Given the description of an element on the screen output the (x, y) to click on. 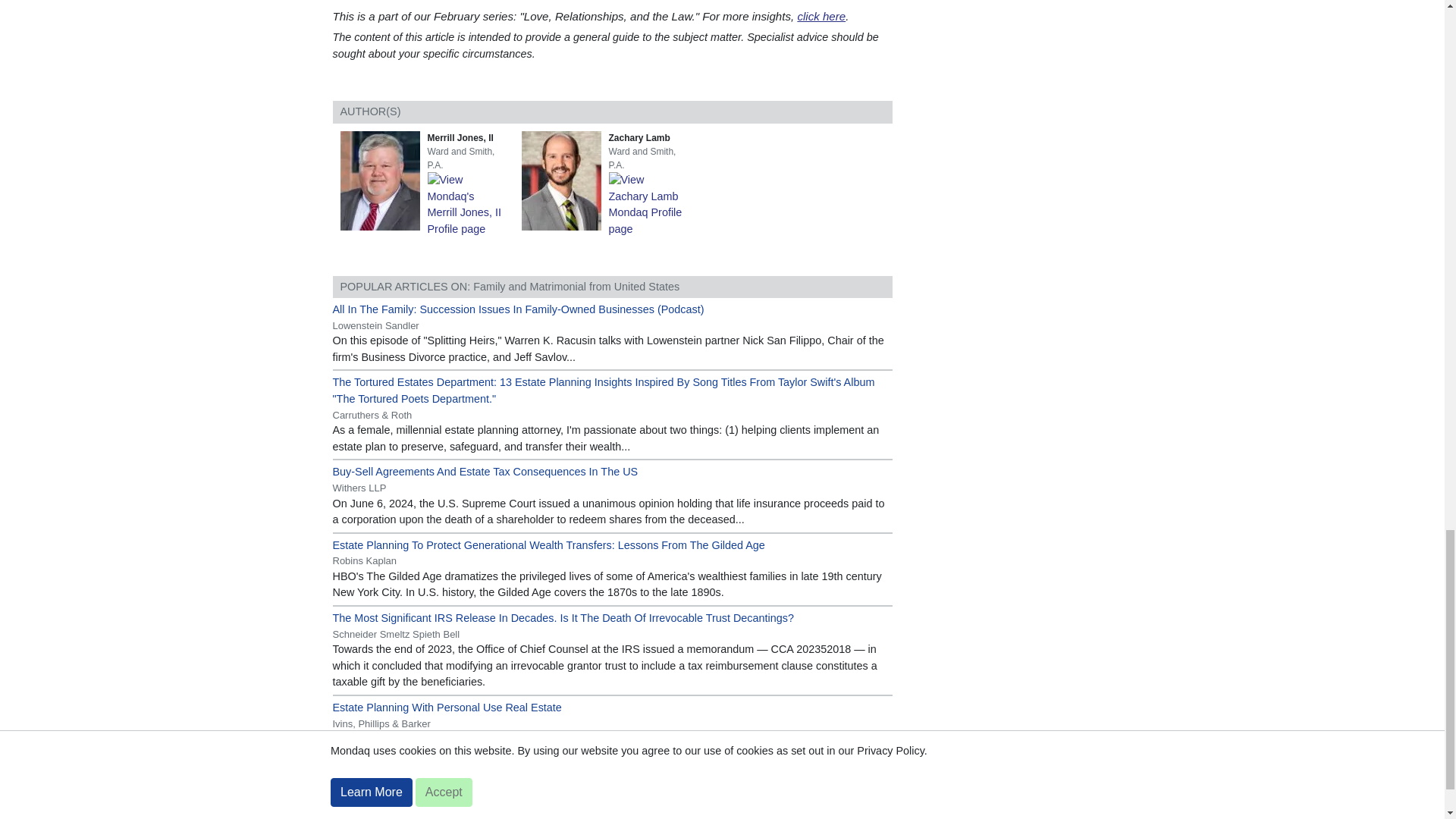
More from Merrill  Jones, II (469, 203)
View this authors biography on their website (564, 179)
More from Zachary  Lamb (649, 203)
View this authors biography on their website (382, 179)
